Given the description of an element on the screen output the (x, y) to click on. 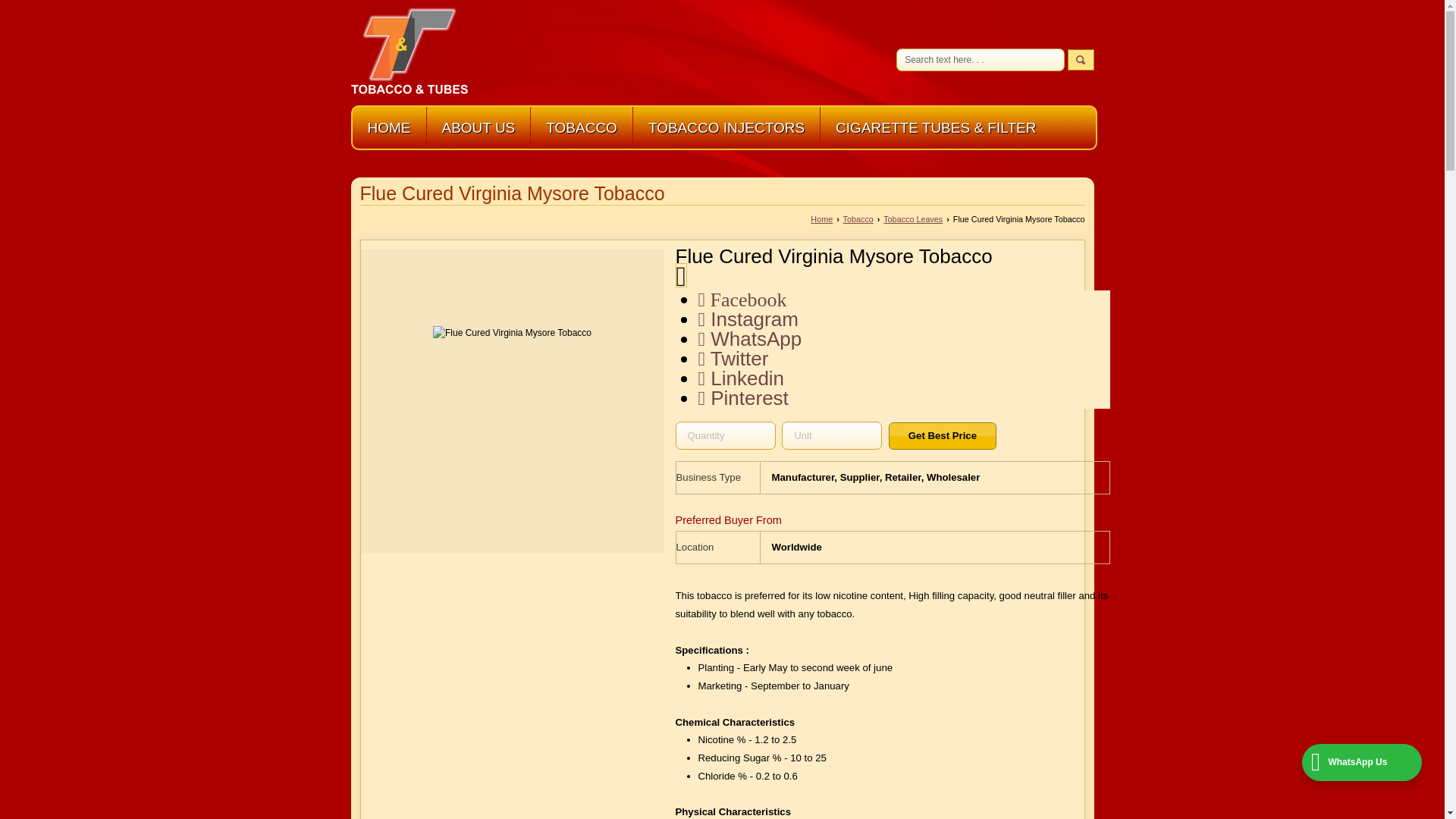
WhatsApp (749, 338)
Home (388, 127)
Get Best Price (941, 435)
Linkedin (740, 377)
Flue Cured Virginia Mysore Tobacco (511, 400)
HOME (388, 127)
Facebook (741, 299)
Tobacco (581, 127)
Tobacco (858, 218)
TOBACCO (581, 127)
